Given the description of an element on the screen output the (x, y) to click on. 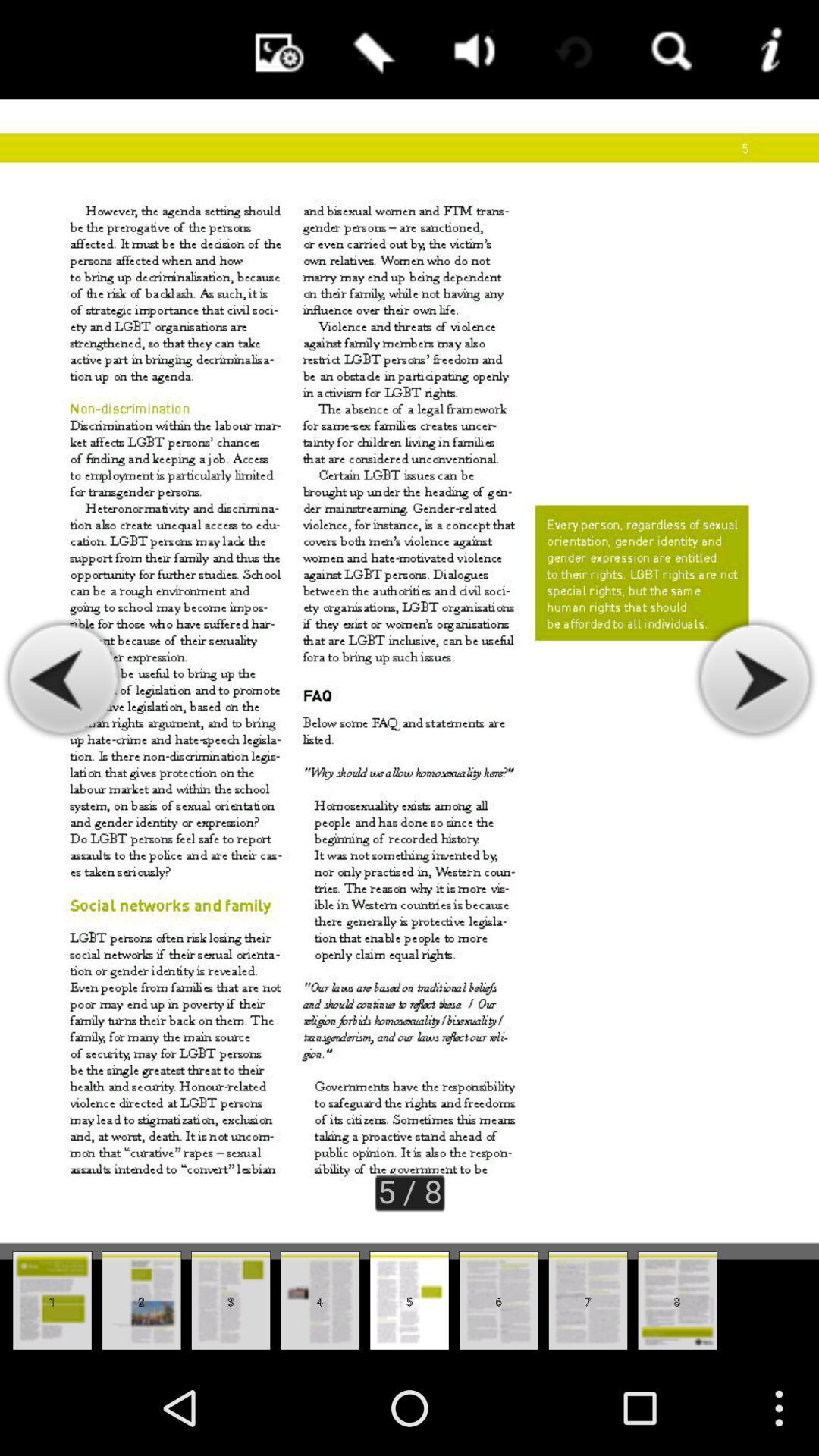
choose the icon on the right (754, 679)
